Given the description of an element on the screen output the (x, y) to click on. 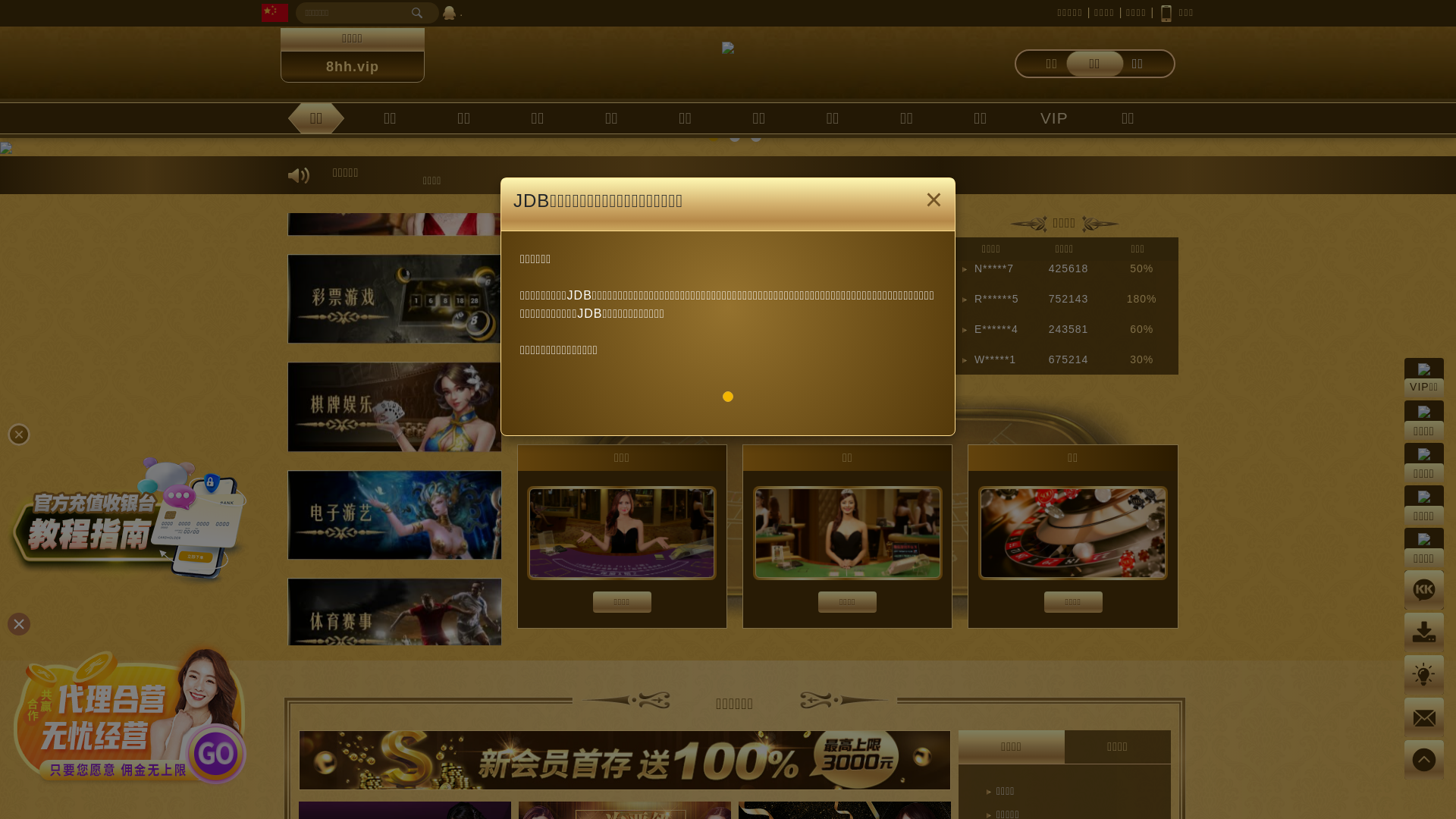
VIP Element type: text (1053, 118)
